Given the description of an element on the screen output the (x, y) to click on. 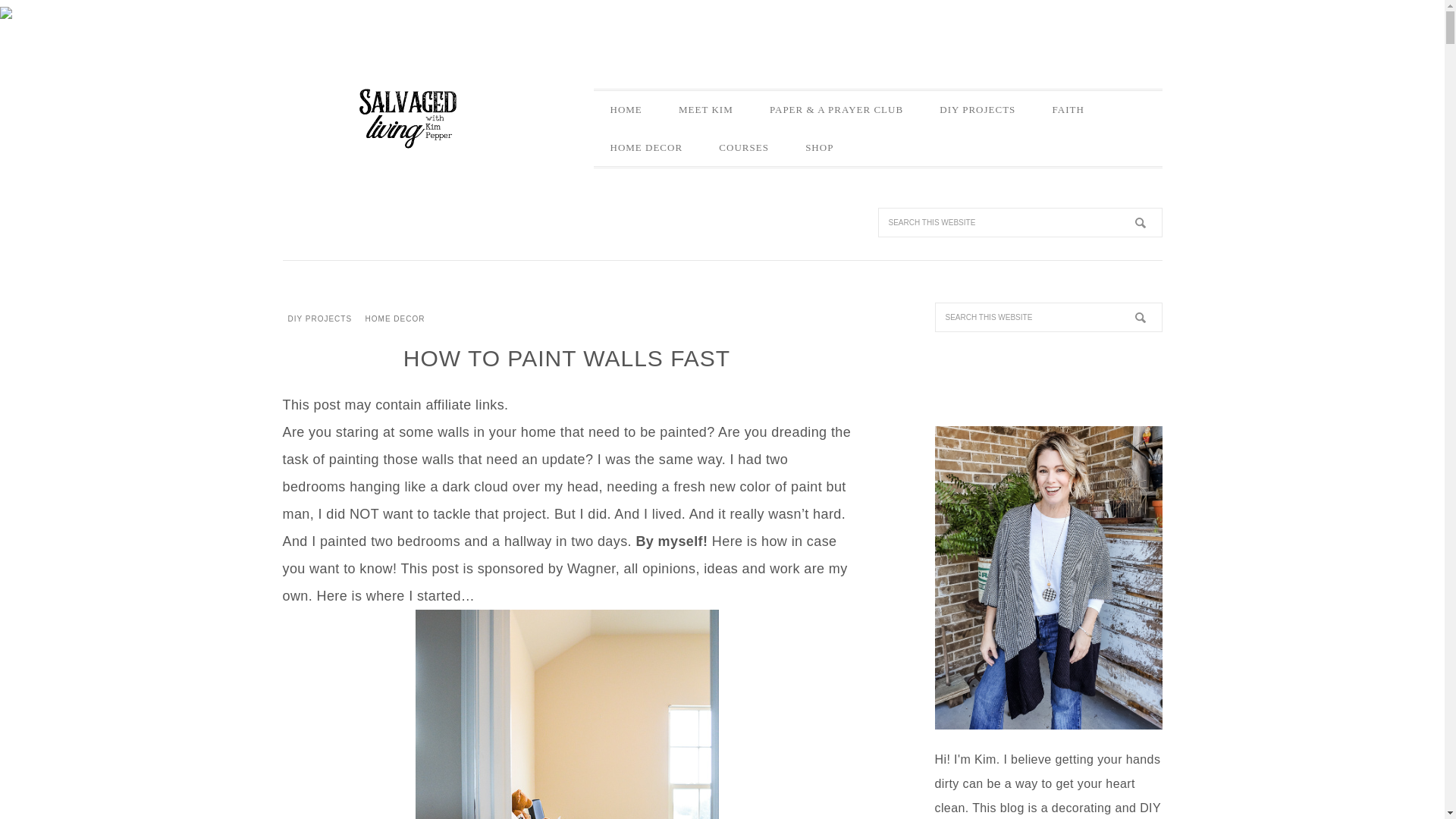
SALVAGED LIVING (407, 117)
DIY PROJECTS (319, 318)
HOME DECOR (645, 147)
HOME (625, 109)
COURSES (743, 147)
FAITH (1067, 109)
MEET KIM (705, 109)
HOME DECOR (394, 318)
DIY PROJECTS (977, 109)
SHOP (819, 147)
